Given the description of an element on the screen output the (x, y) to click on. 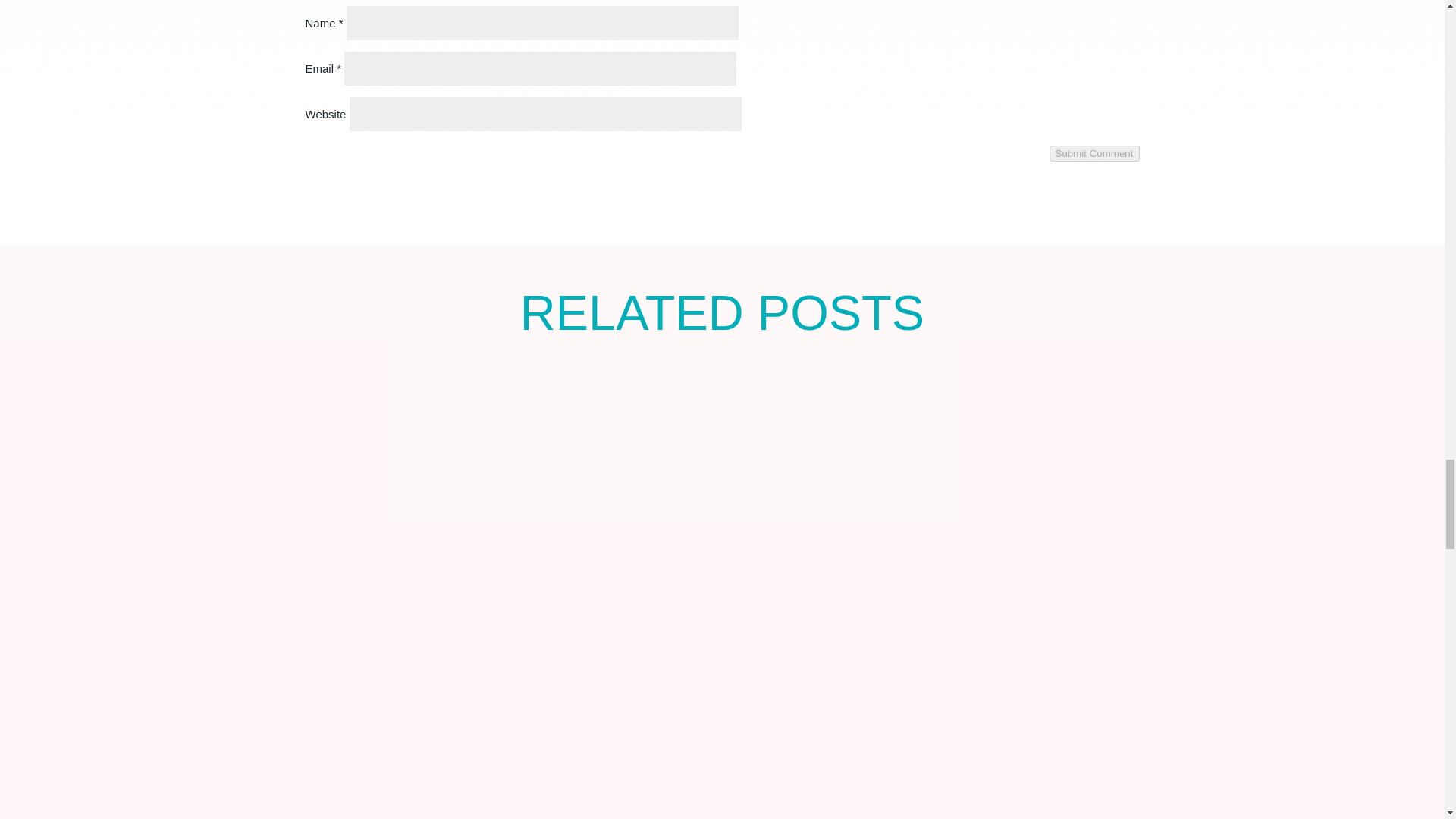
Submit Comment (1094, 153)
